Given the description of an element on the screen output the (x, y) to click on. 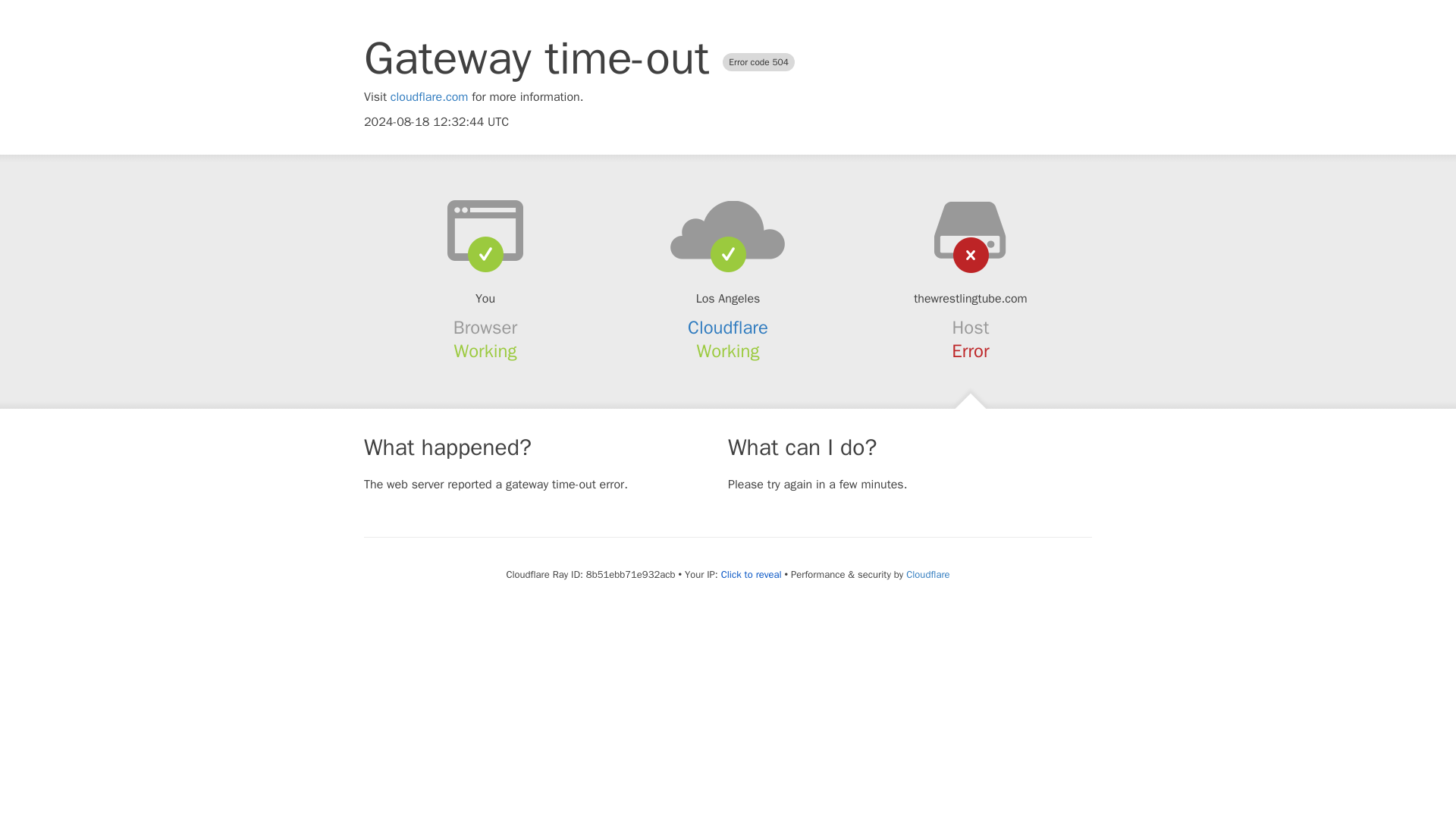
Cloudflare (927, 574)
Click to reveal (750, 574)
cloudflare.com (429, 96)
Cloudflare (727, 327)
